Given the description of an element on the screen output the (x, y) to click on. 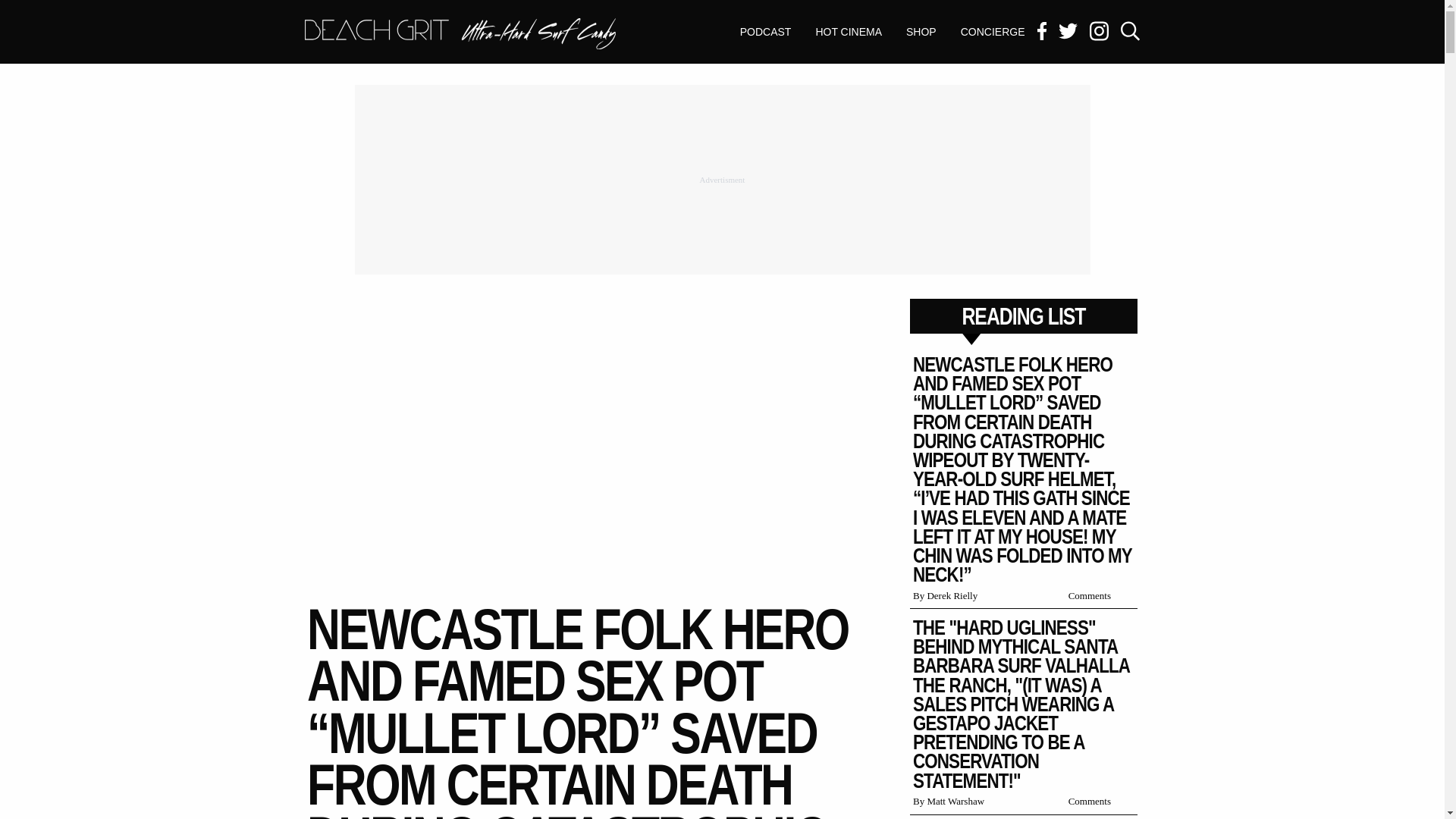
SHOP (459, 34)
HOT CINEMA (921, 31)
PODCAST (848, 31)
BG-LOGO (765, 31)
CONCIERGE (459, 33)
